Given the description of an element on the screen output the (x, y) to click on. 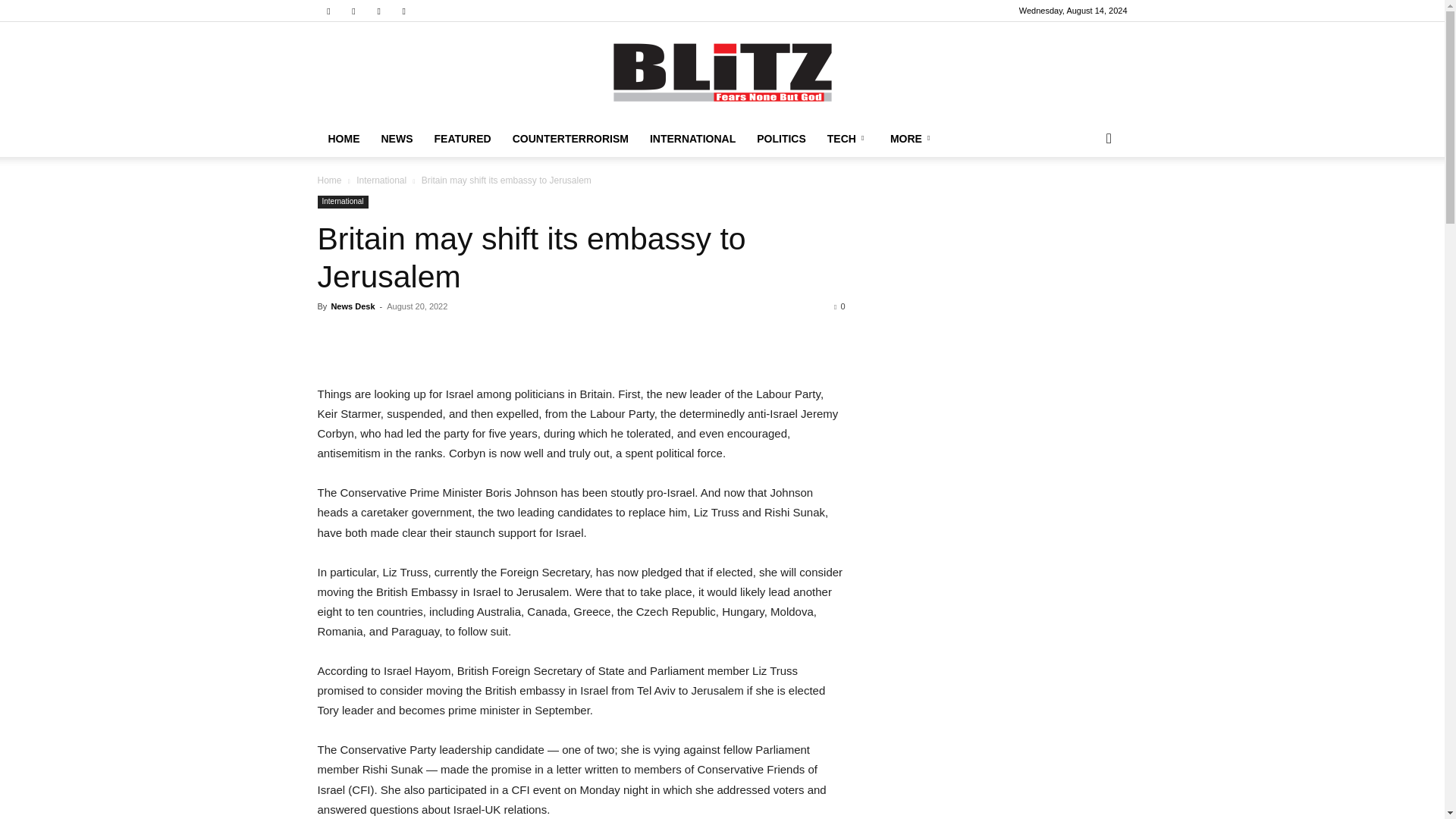
Twitter (379, 10)
POLITICS (780, 138)
NEWS (396, 138)
COUNTERTERRORISM (570, 138)
FEATURED (461, 138)
BLiTZ (721, 72)
View all posts in International (381, 180)
Telegram (353, 10)
Youtube (403, 10)
Facebook (328, 10)
